Given the description of an element on the screen output the (x, y) to click on. 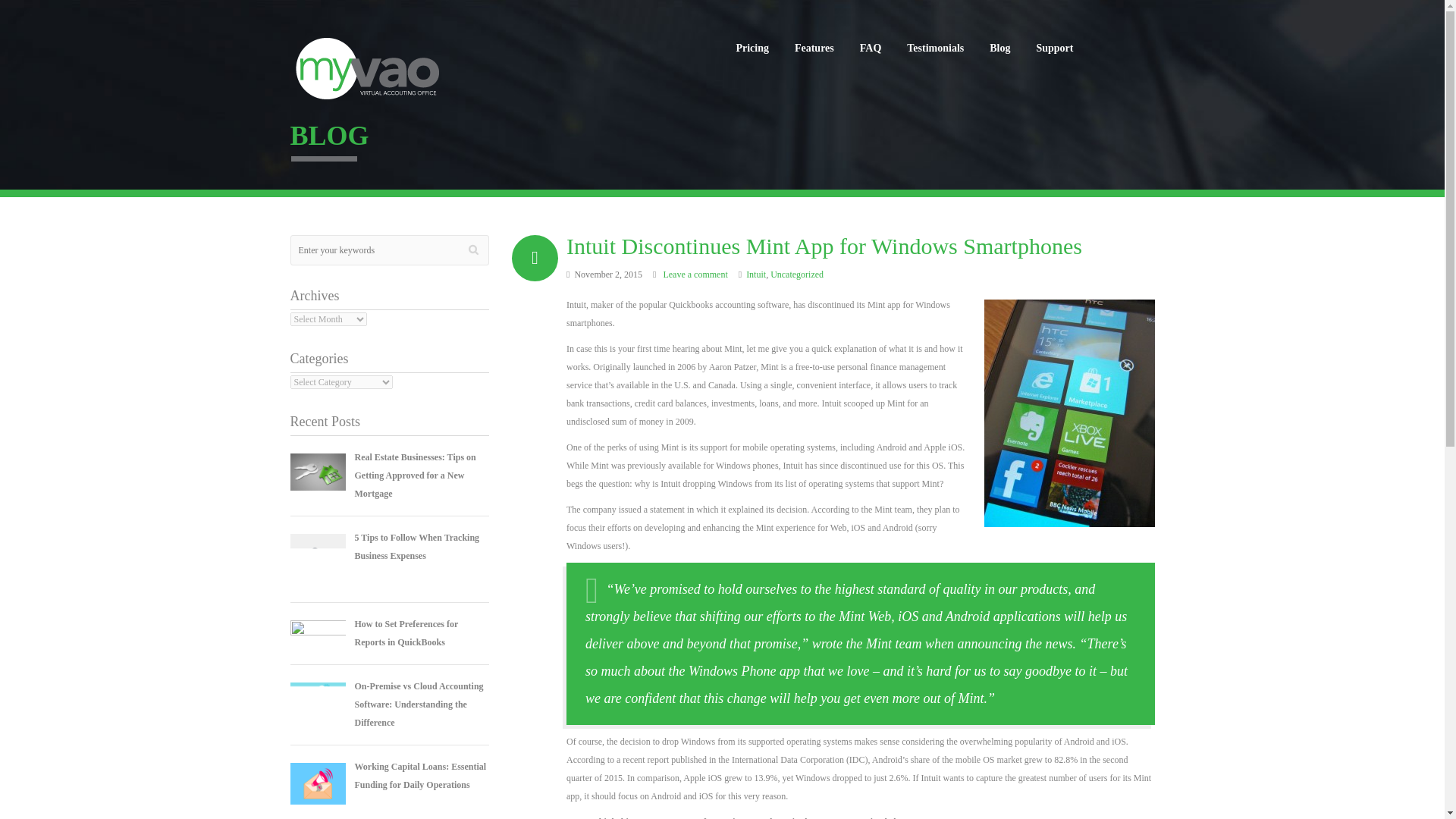
FAQ (870, 48)
Intuit Discontinues Mint App for Windows Smartphones (823, 245)
Uncategorized (797, 274)
Intuit (755, 274)
Leave a comment (694, 274)
Pricing (751, 48)
Testimonials (935, 48)
Blog (1000, 48)
